Given the description of an element on the screen output the (x, y) to click on. 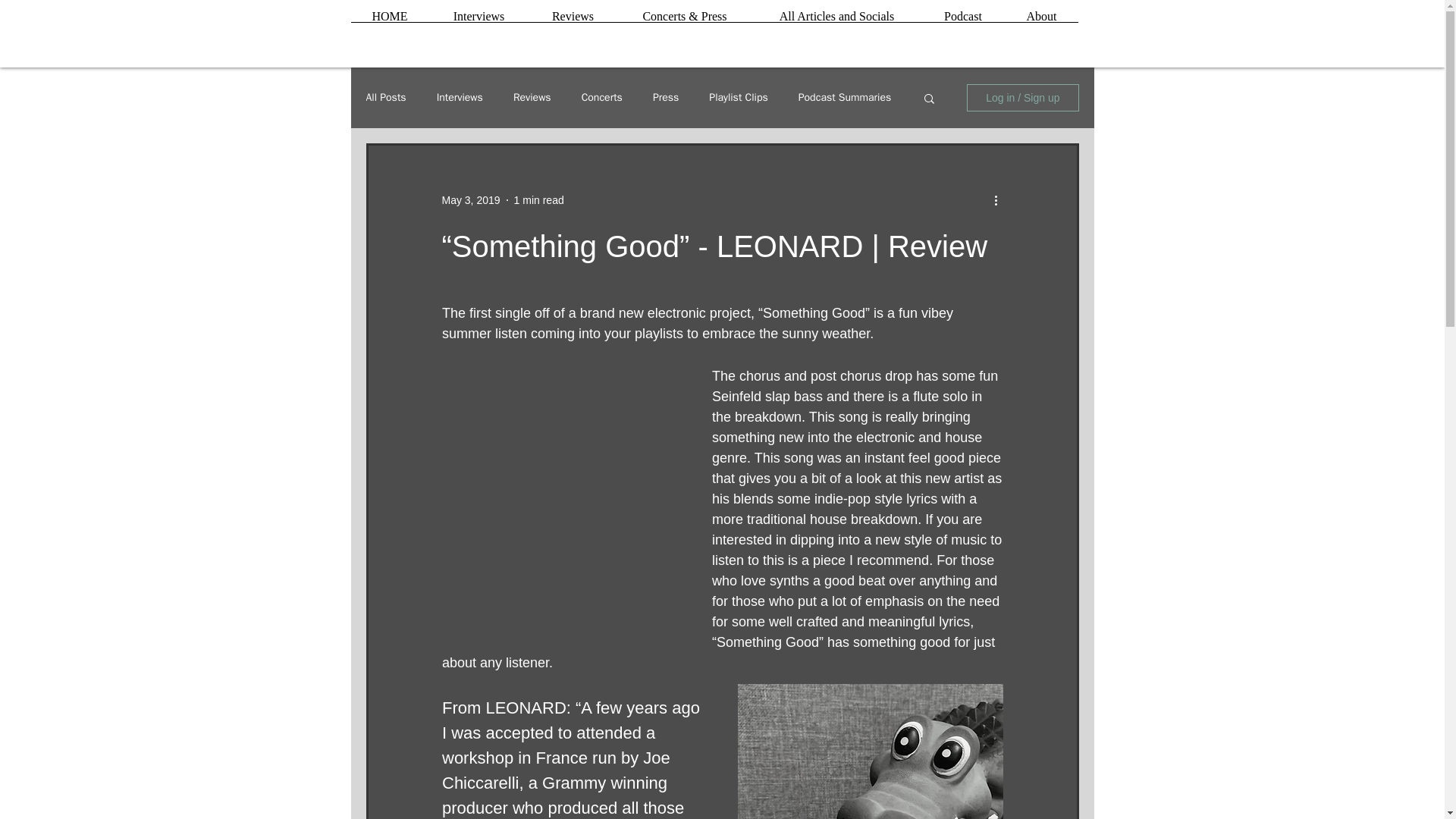
Concerts (601, 97)
Reviews (573, 20)
About (1042, 20)
Interviews (459, 97)
Press (665, 97)
Reviews (532, 97)
1 min read (538, 200)
Podcast (962, 20)
All Articles and Socials (836, 20)
HOME (389, 20)
Podcast Summaries (844, 97)
Interviews (479, 20)
Playlist Clips (738, 97)
May 3, 2019 (470, 200)
All Posts (385, 97)
